Given the description of an element on the screen output the (x, y) to click on. 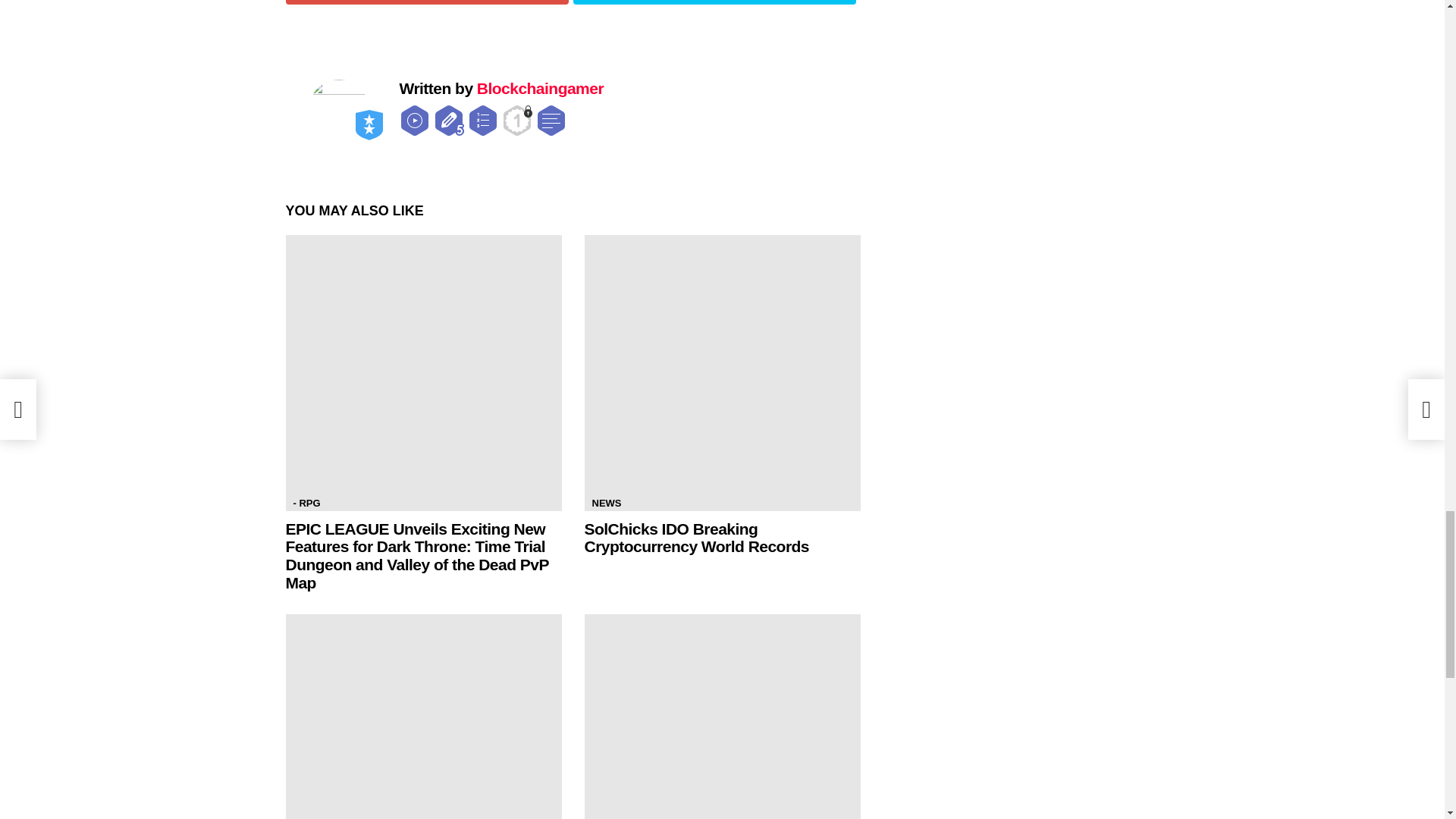
SolChicks IDO Breaking Cryptocurrency World Records (721, 373)
List Maker (482, 120)
Content Author (448, 120)
Connect with Google (426, 2)
Years Of Membership (517, 120)
Connect with Twitter (714, 2)
Story Maker (550, 120)
Video Maker (413, 120)
